Given the description of an element on the screen output the (x, y) to click on. 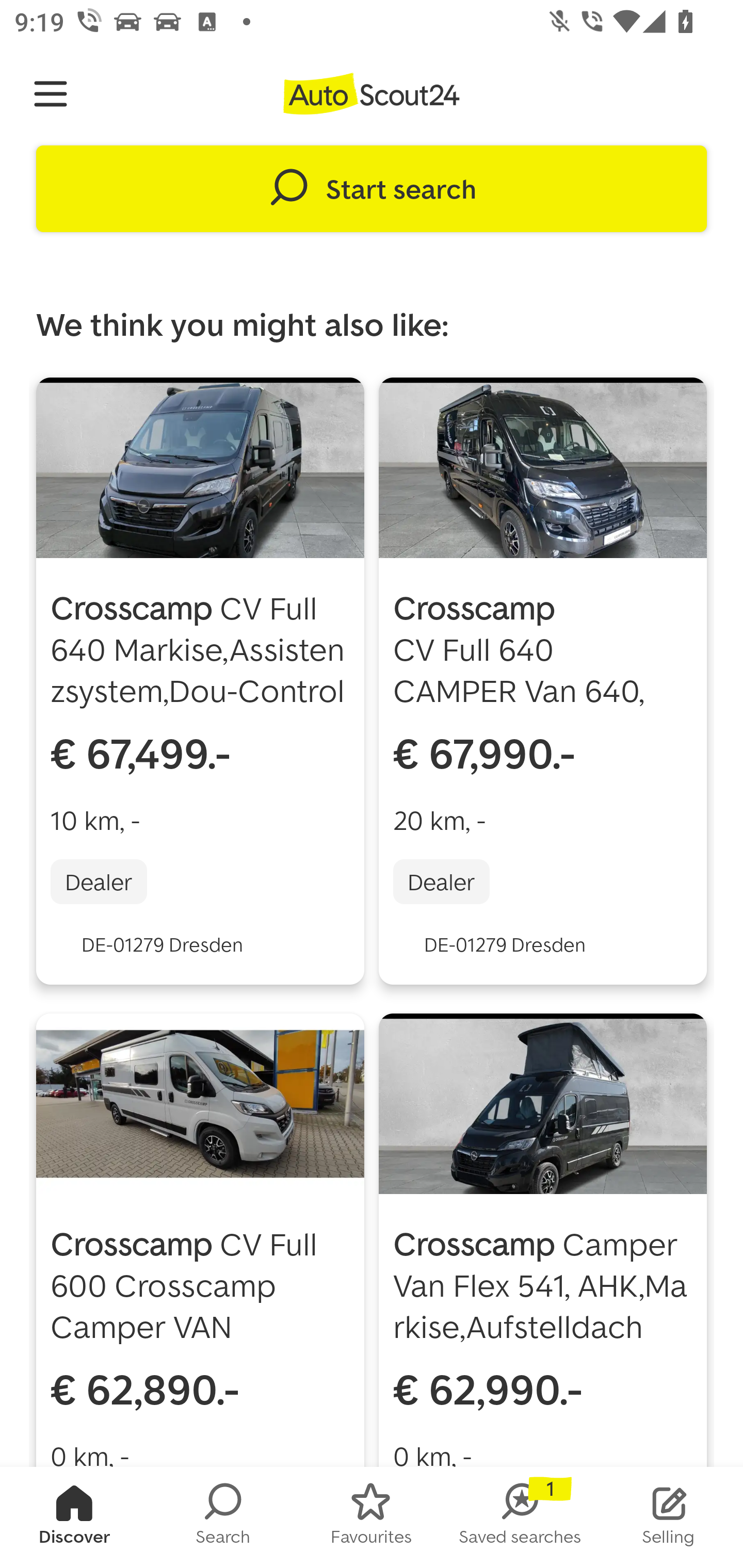
Navigate up (50, 93)
Start search (371, 188)
HOMESCREEN Discover (74, 1517)
SEARCH Search (222, 1517)
FAVORITES Favourites (371, 1517)
SAVED_SEARCHES Saved searches 1 (519, 1517)
STOCK_LIST Selling (668, 1517)
